Given the description of an element on the screen output the (x, y) to click on. 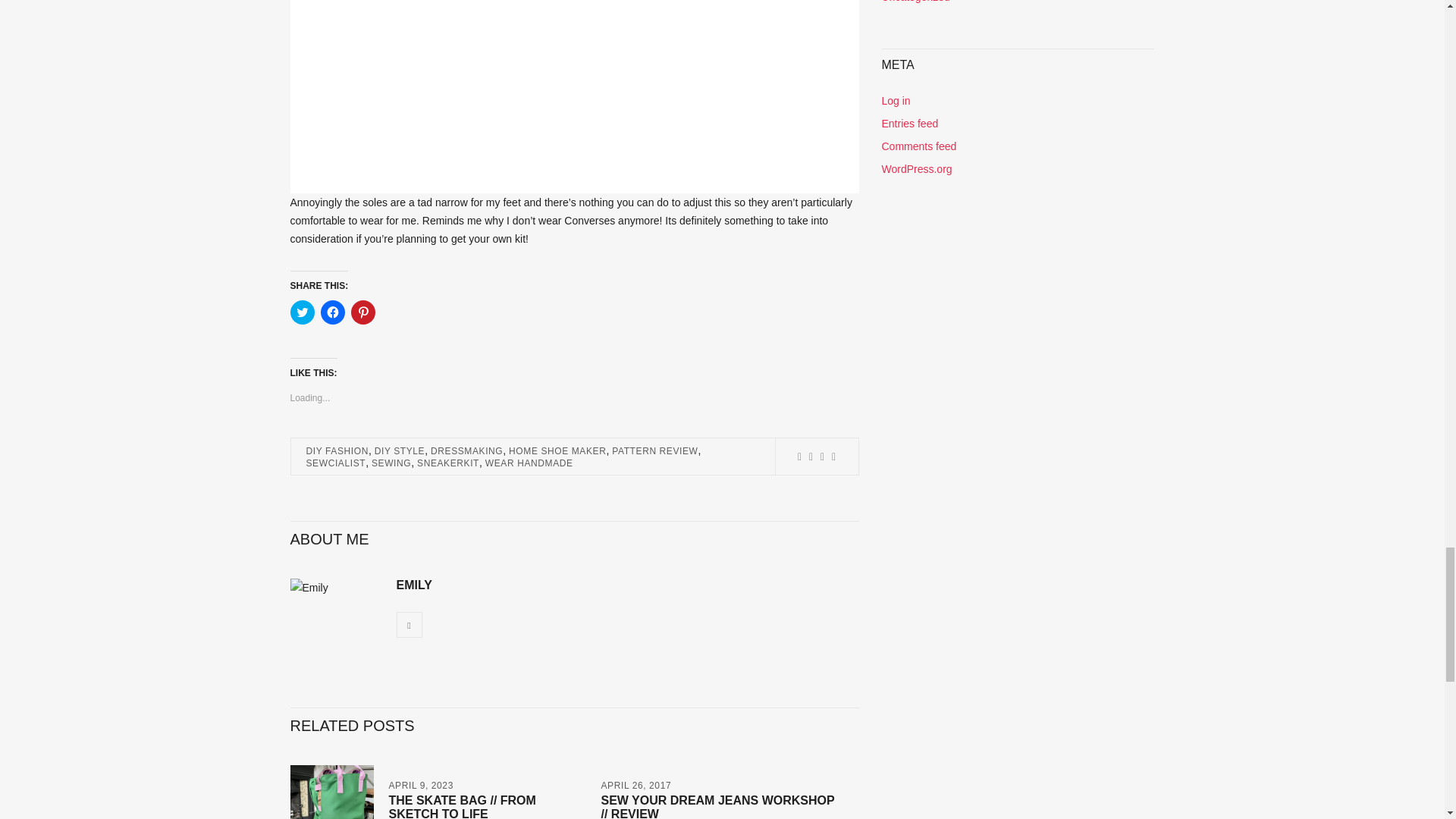
PATTERN REVIEW (654, 450)
DIY STYLE (399, 450)
Click to share on Facebook (331, 312)
SEWING (390, 462)
HOME SHOE MAKER (556, 450)
DIY FASHION (336, 450)
SEWCIALIST (335, 462)
SNEAKERKIT (447, 462)
Click to share on Twitter (301, 312)
Click to share on Pinterest (362, 312)
